Given the description of an element on the screen output the (x, y) to click on. 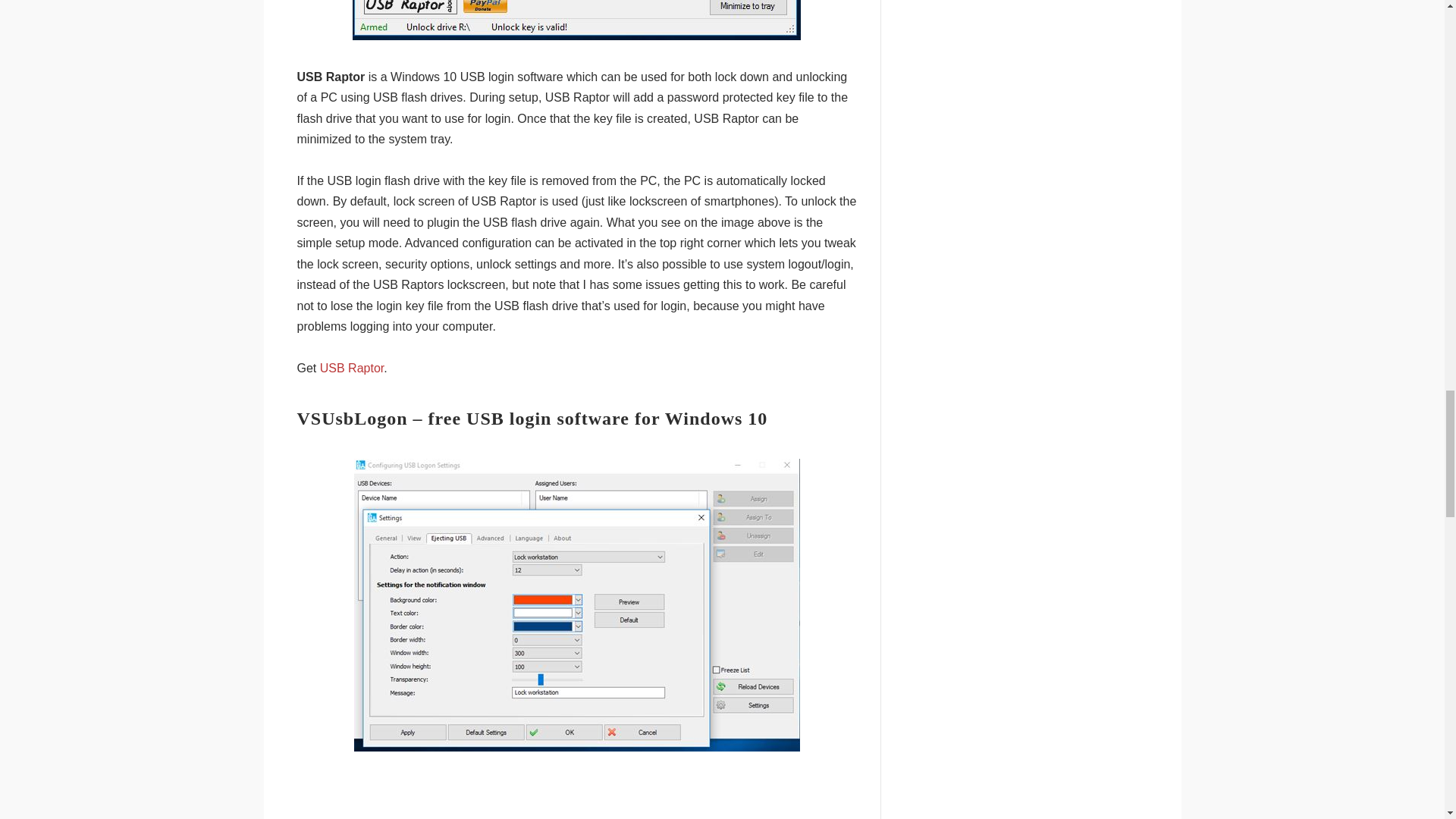
USB Raptor (352, 367)
Advertisement (577, 798)
USB Raptor (352, 367)
